Given the description of an element on the screen output the (x, y) to click on. 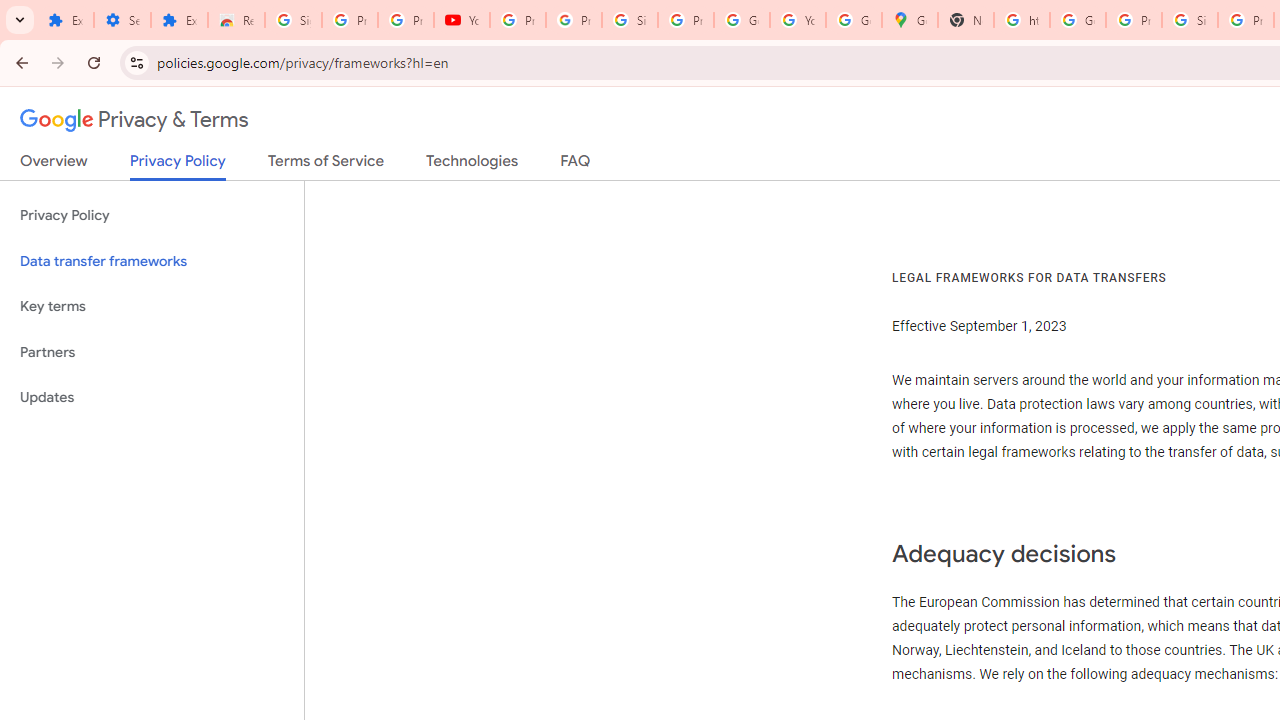
Key terms (152, 306)
Extensions (179, 20)
Google Maps (909, 20)
